Given the description of an element on the screen output the (x, y) to click on. 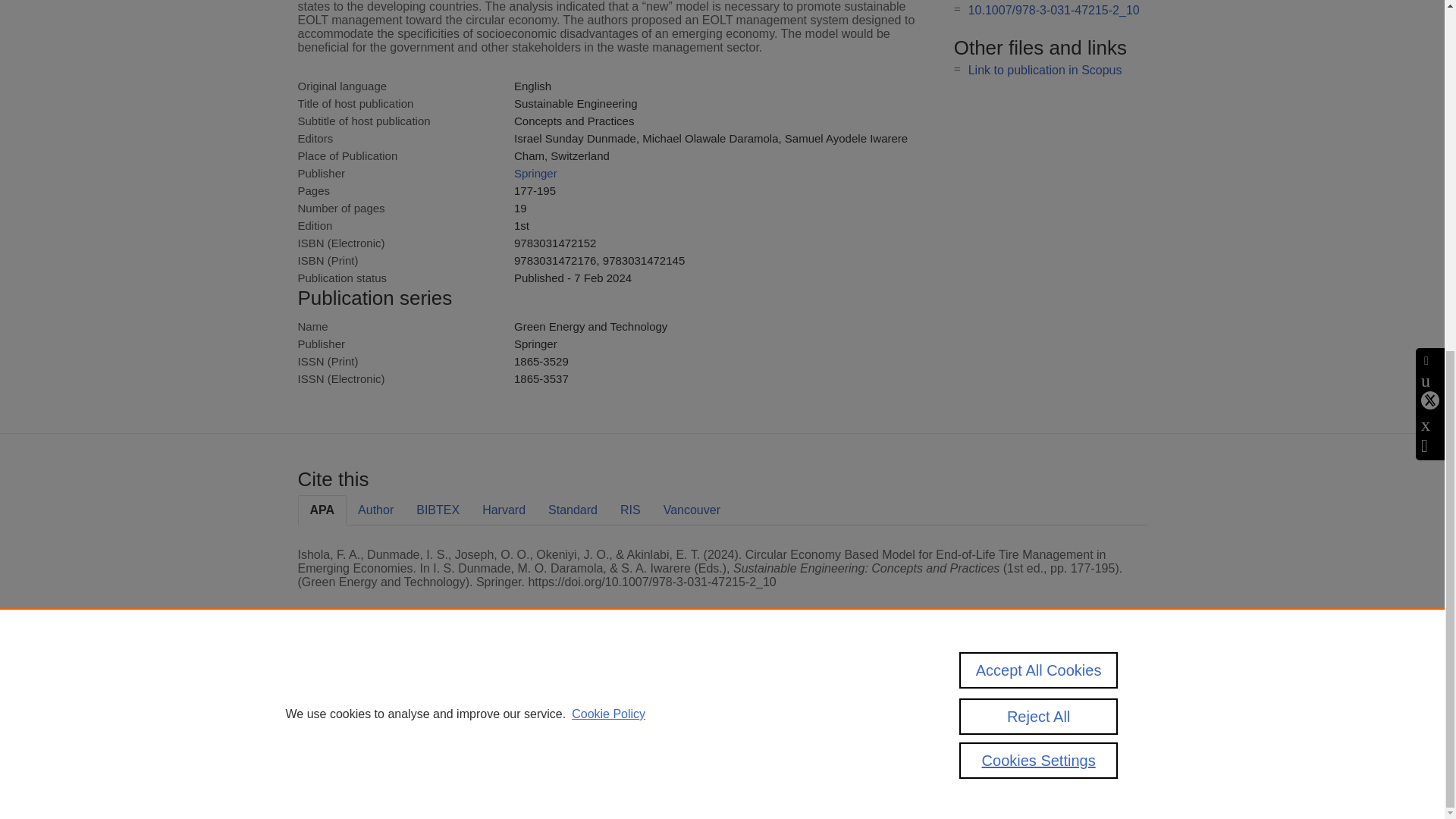
Scopus (394, 687)
Link to publication in Scopus (1045, 69)
Contact us (1123, 693)
Cookies Settings (334, 761)
Cookies Settings (1038, 150)
About web accessibility (967, 719)
Pure (362, 687)
Cookie Policy (608, 103)
use of cookies (796, 740)
